Given the description of an element on the screen output the (x, y) to click on. 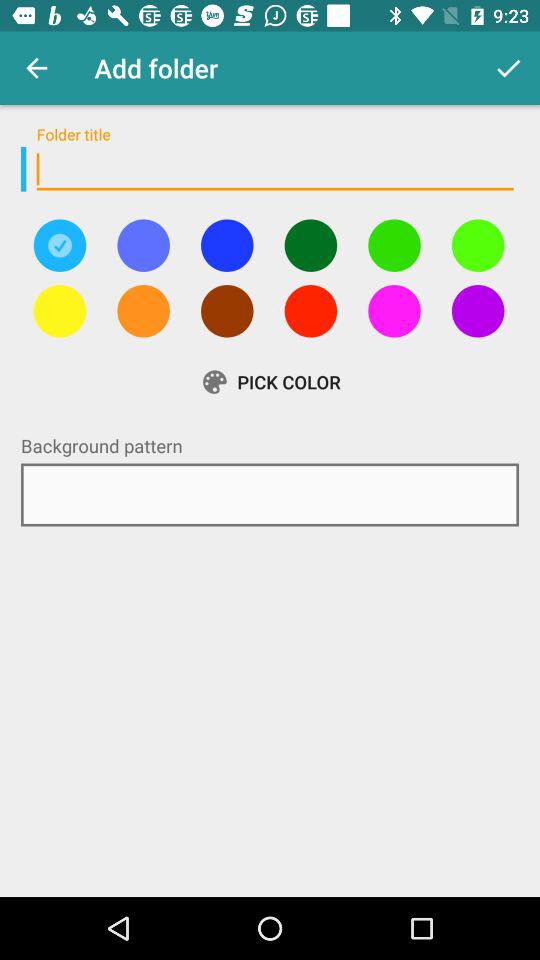
color option (143, 311)
